Given the description of an element on the screen output the (x, y) to click on. 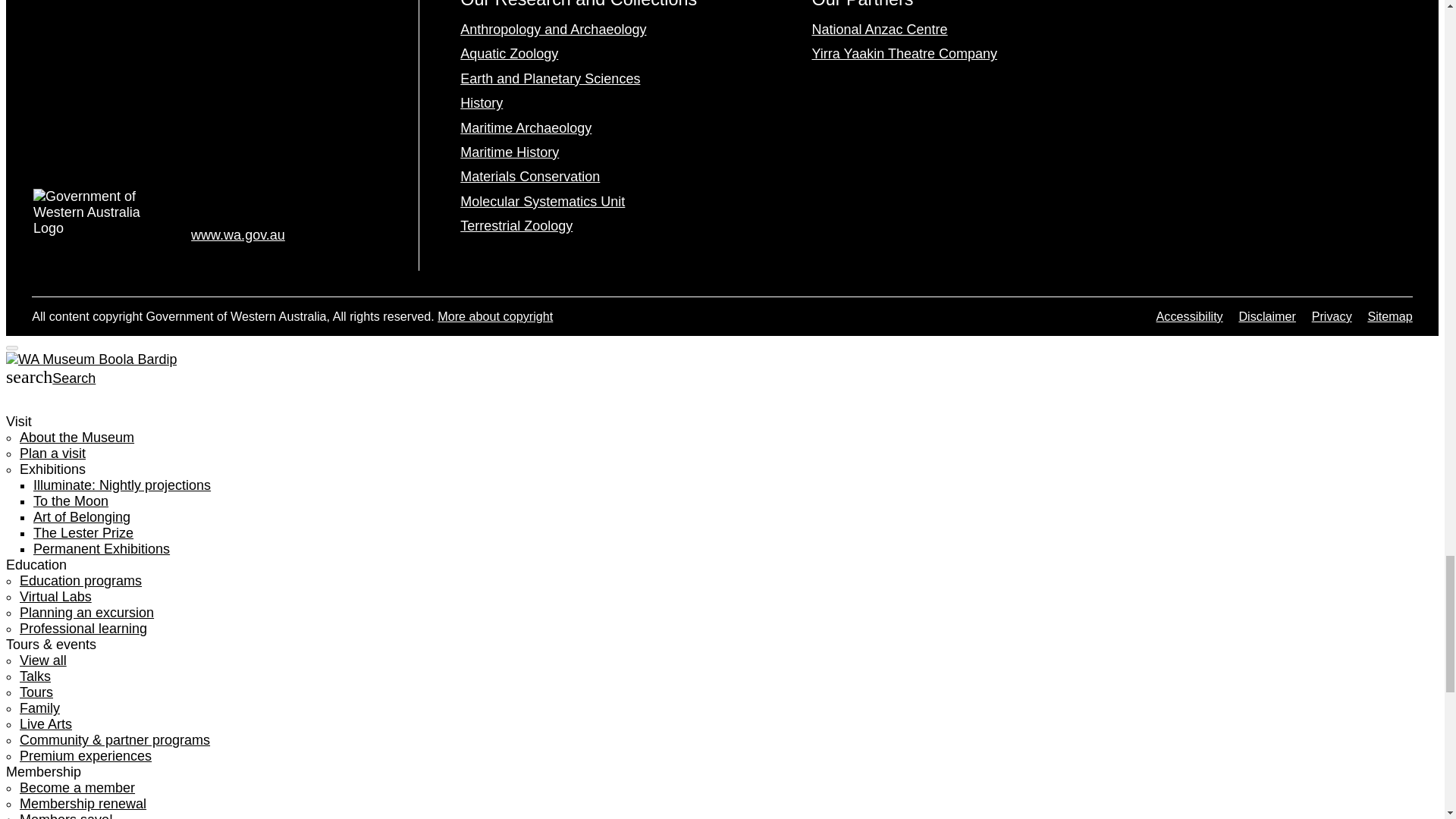
To the Moon (70, 500)
The Lester Prize  (83, 532)
Art of Belonging  (82, 516)
